Given the description of an element on the screen output the (x, y) to click on. 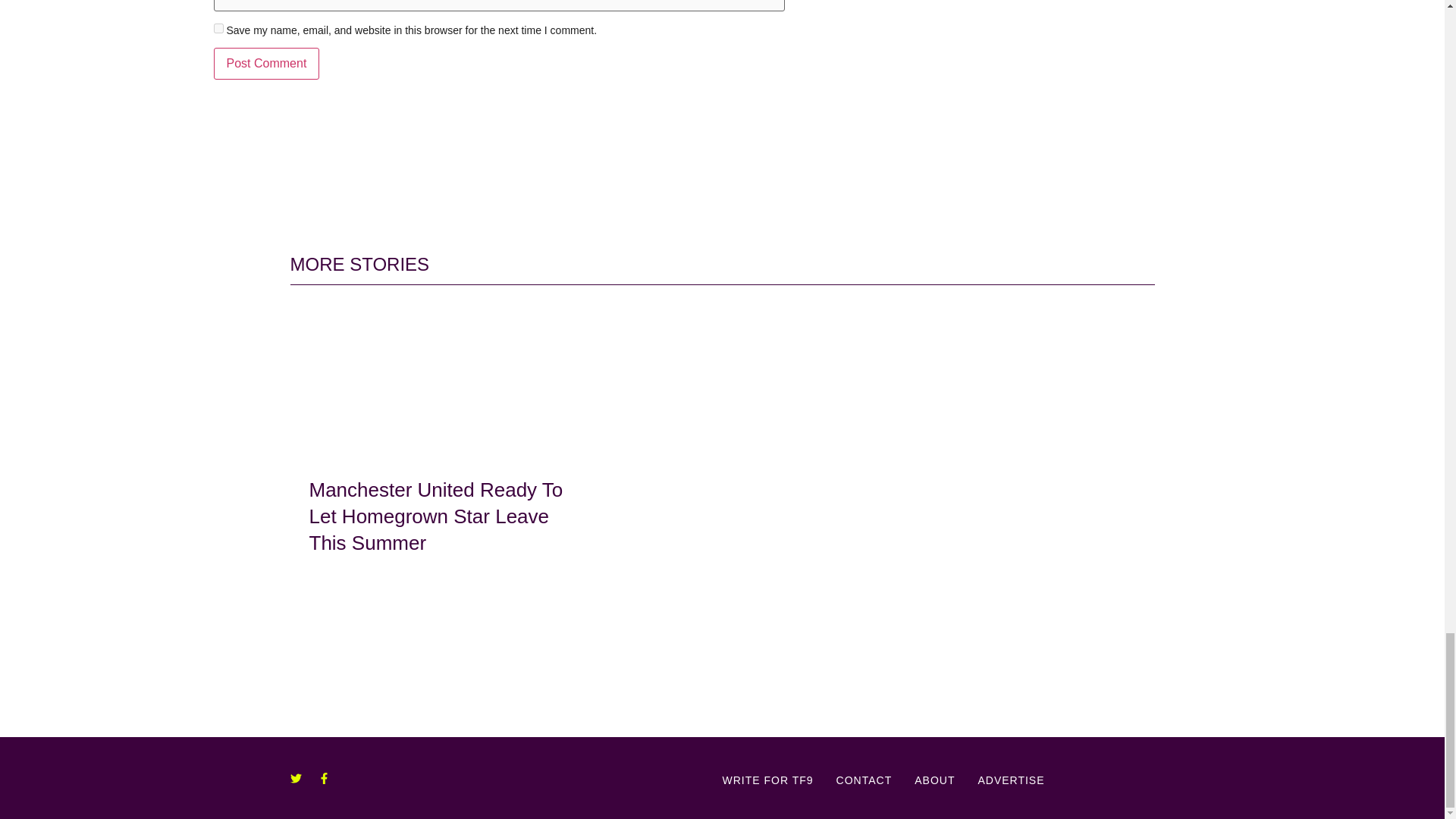
Post Comment (267, 63)
yes (219, 28)
